Given the description of an element on the screen output the (x, y) to click on. 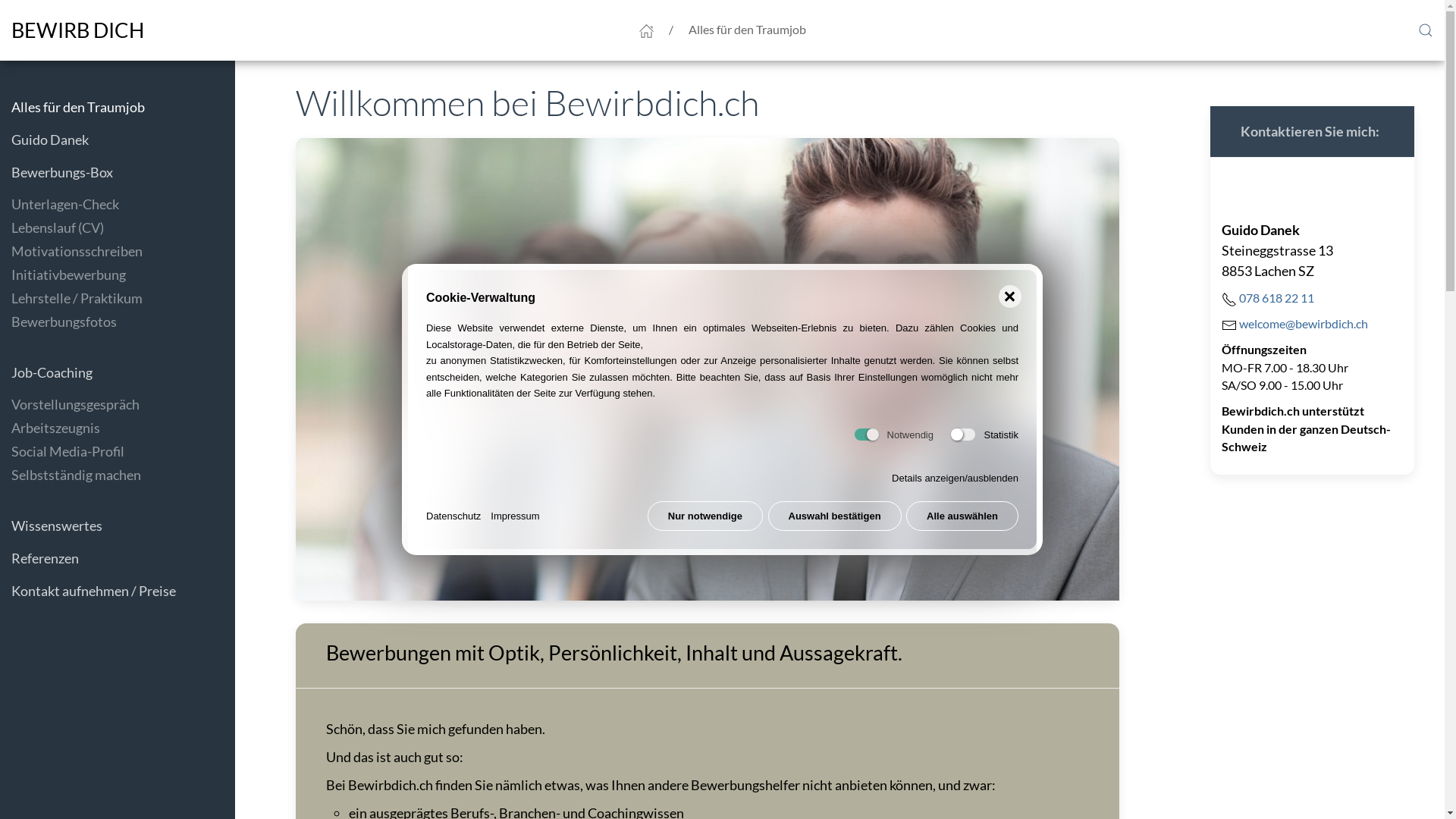
Social Media-Profil Element type: text (123, 451)
Job-Coaching Element type: text (117, 372)
Datenschutz Element type: text (453, 516)
Wissenswertes Element type: text (117, 525)
Motivationsschreiben Element type: text (123, 251)
Unterlagen-Check Element type: text (123, 204)
BEWIRB DICH Element type: text (77, 30)
Bewerbungs-Box Element type: text (117, 172)
Arbeitszeugnis Element type: text (123, 427)
Nur notwendige Element type: text (704, 515)
Lebenslauf (CV) Element type: text (123, 227)
  Element type: text (296, 70)
Guido Danek Element type: text (117, 139)
Referenzen Element type: text (117, 558)
Details anzeigen/ausblenden Element type: text (954, 477)
Initiativbewerbung Element type: text (123, 274)
welcome@bewirbdich.ch Element type: text (1303, 323)
Home Element type: hover (645, 29)
Lehrstelle / Praktikum Element type: text (123, 298)
Kontakt aufnehmen / Preise Element type: text (117, 590)
Bewerbungsfotos Element type: text (123, 321)
Impressum Element type: text (514, 516)
078 618 22 11 Element type: text (1276, 297)
